Given the description of an element on the screen output the (x, y) to click on. 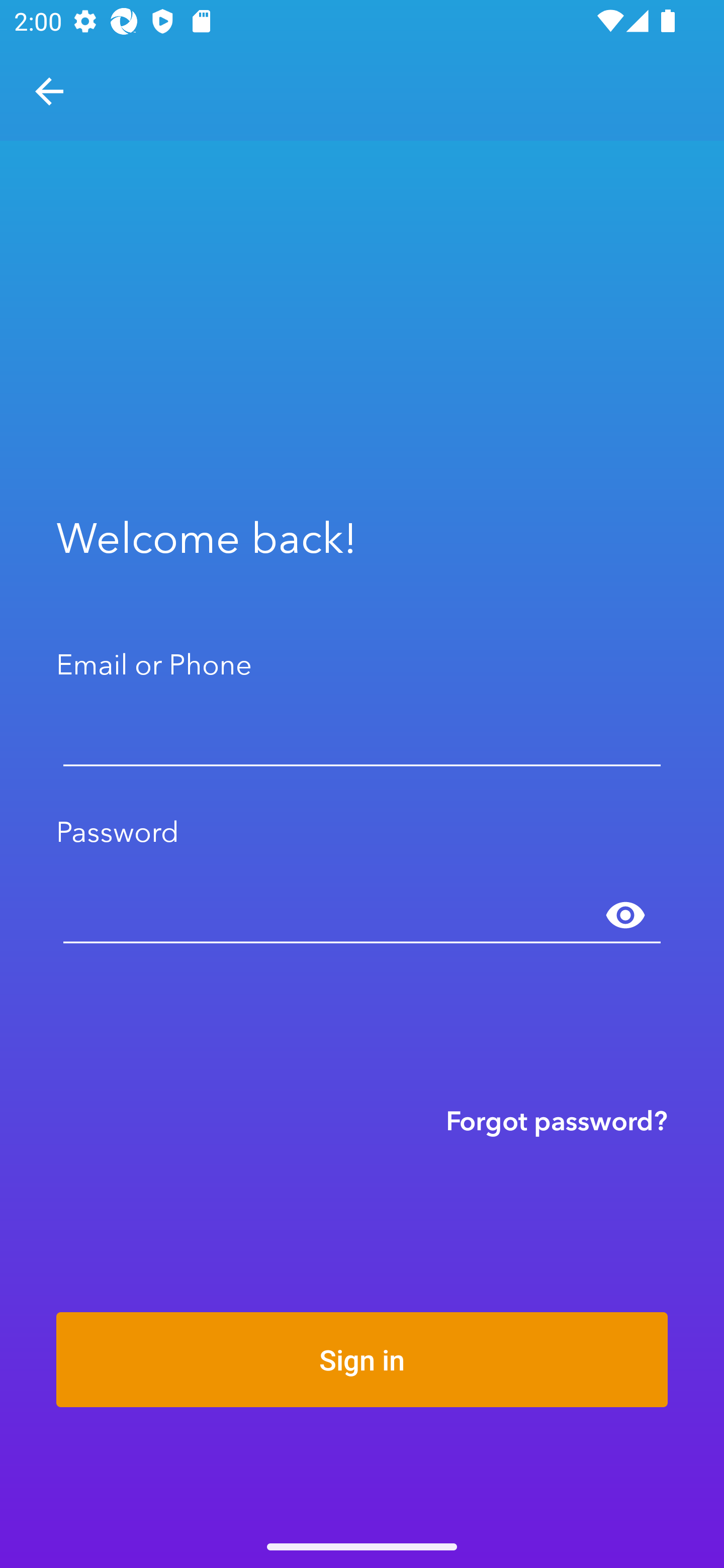
Navigate up (49, 91)
Show password (625, 915)
Forgot password? (556, 1119)
Sign in (361, 1359)
